Given the description of an element on the screen output the (x, y) to click on. 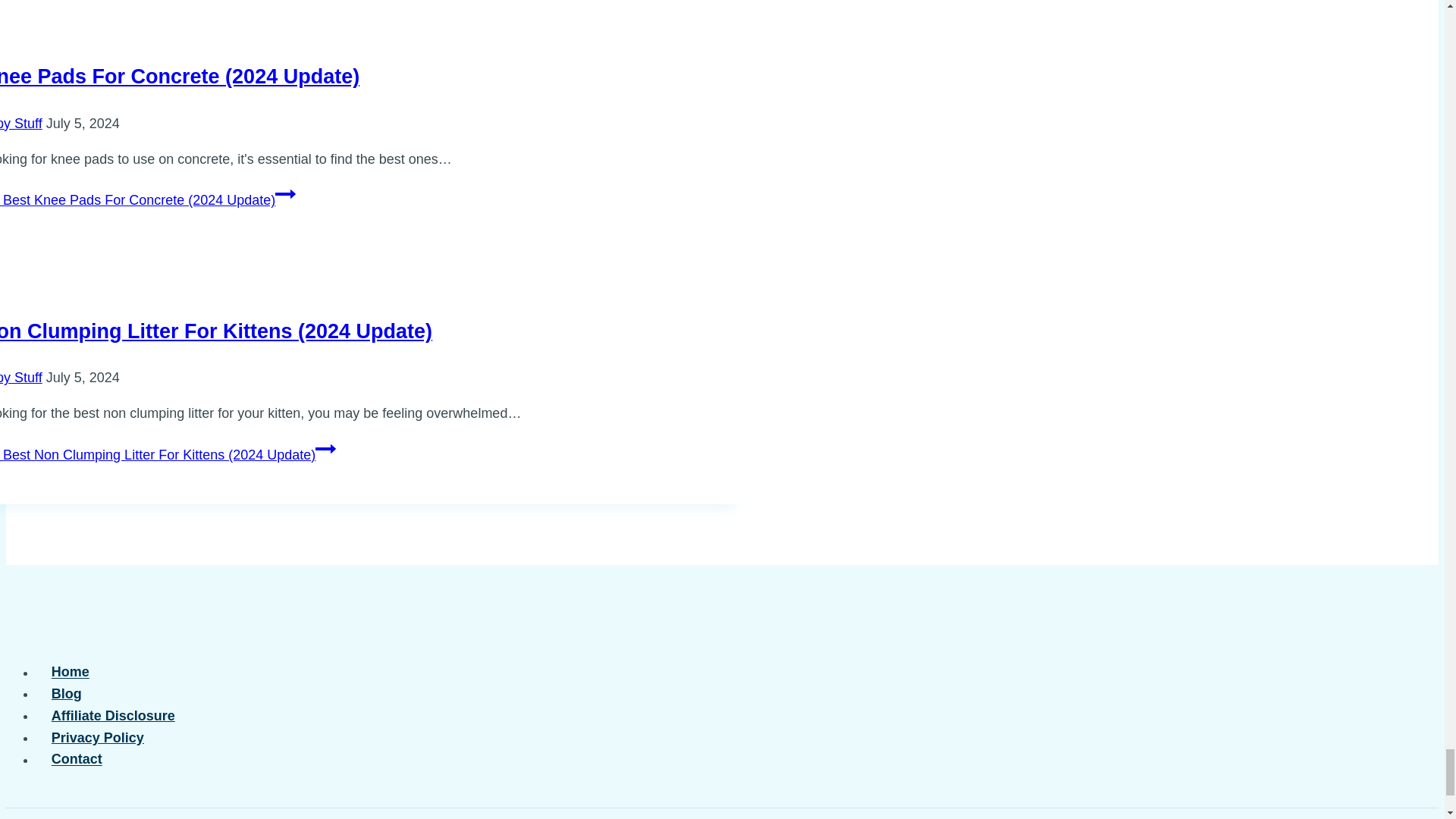
Continue (285, 193)
Continue (325, 448)
